Given the description of an element on the screen output the (x, y) to click on. 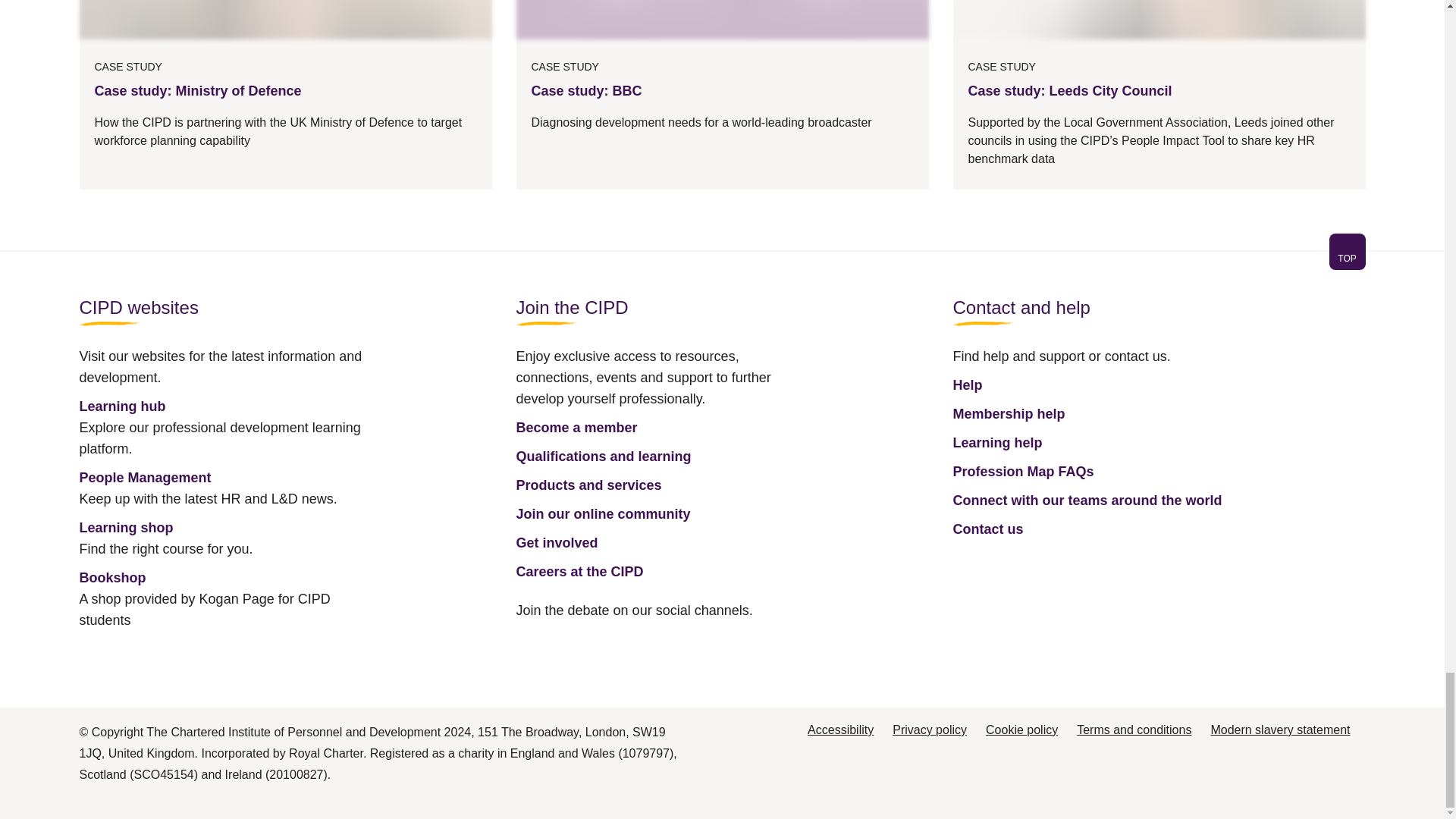
TOP (1346, 258)
TOP (1346, 251)
TOP (721, 260)
